Given the description of an element on the screen output the (x, y) to click on. 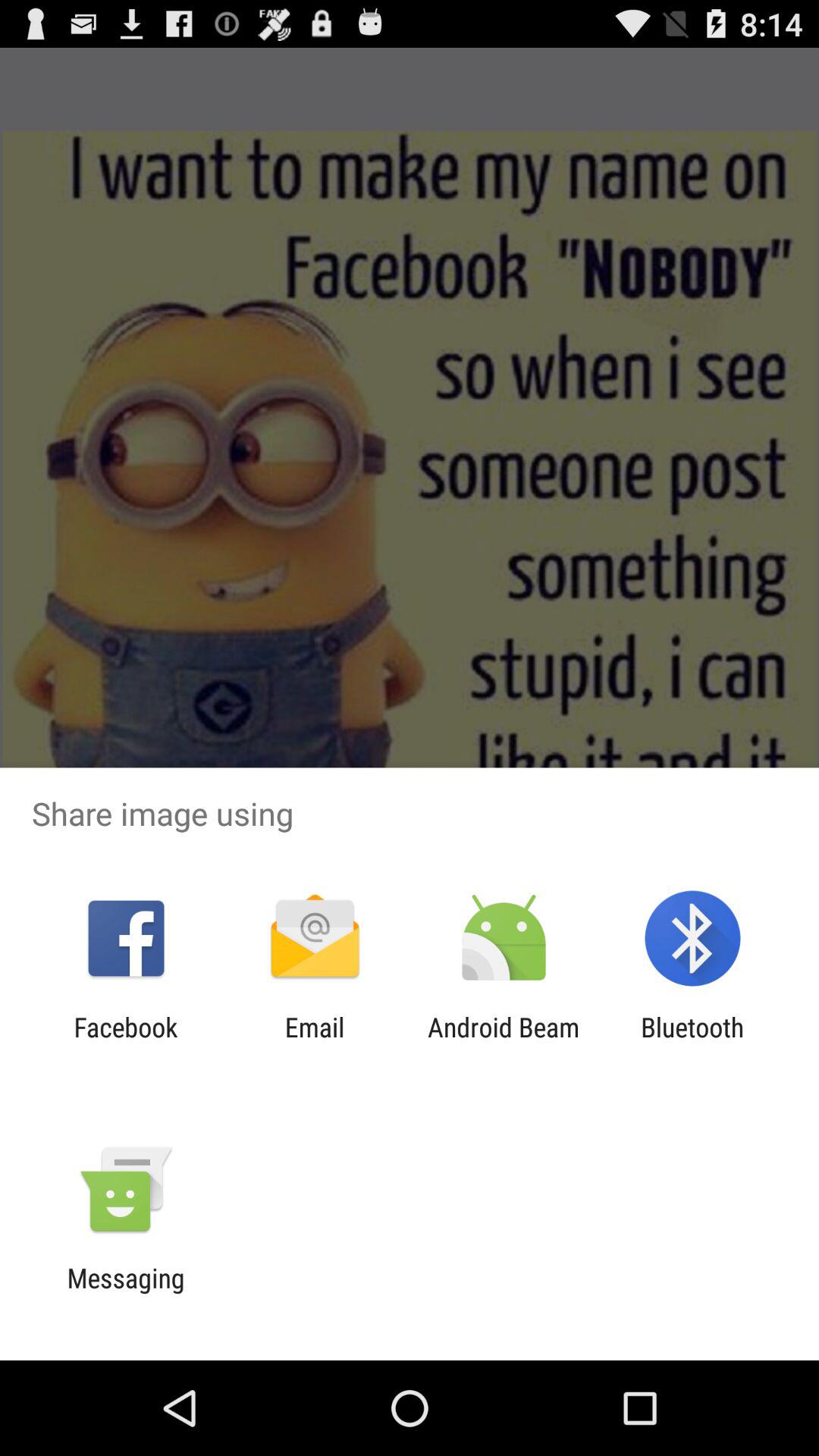
press app to the right of the android beam item (691, 1042)
